Given the description of an element on the screen output the (x, y) to click on. 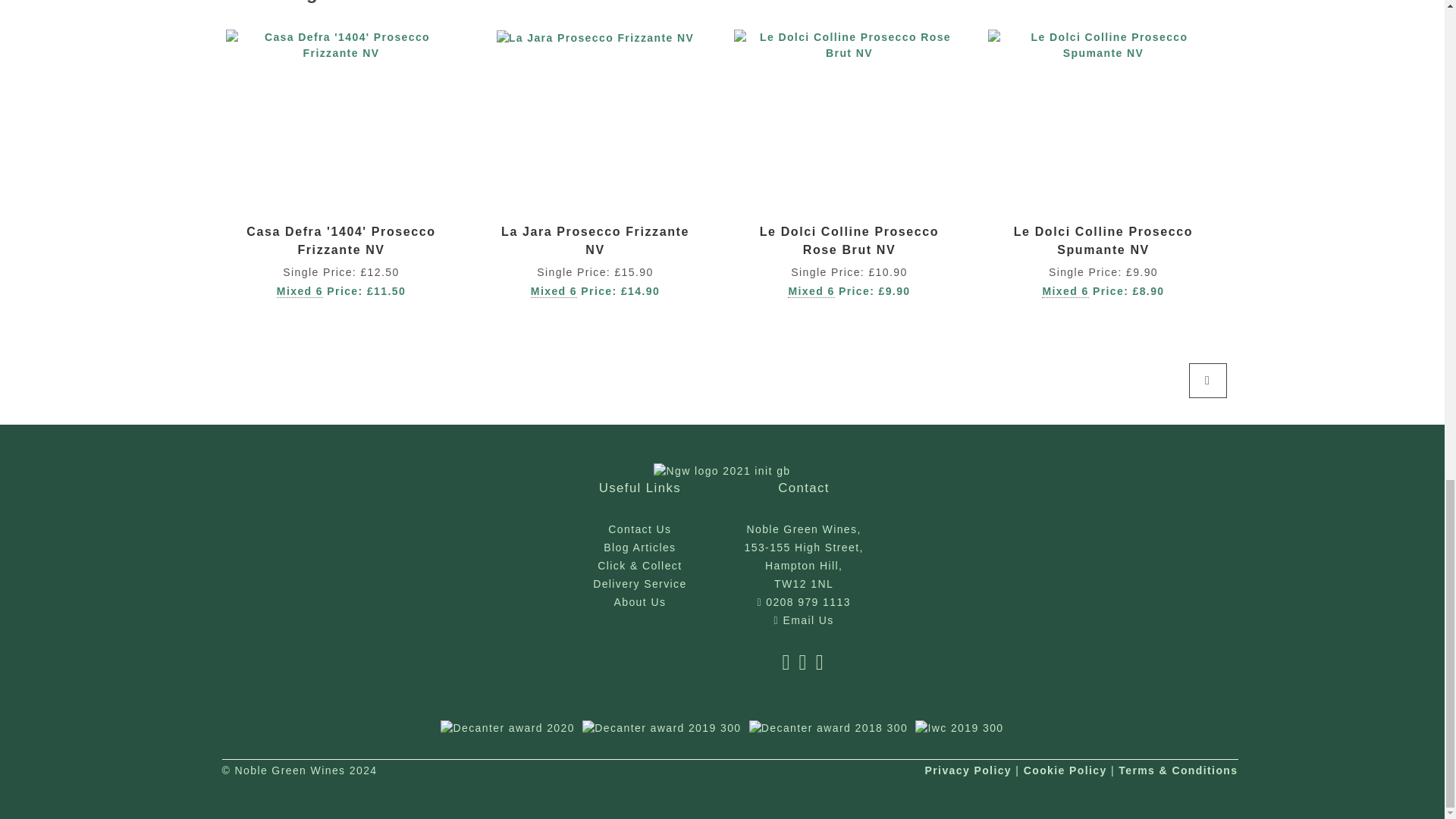
Le Dolci Colline Prosecco Rose Brut NV (849, 240)
Casa Defra '1404' Prosecco Frizzante NV (340, 240)
La Jara Prosecco Frizzante NV (594, 240)
Privacy Policy (967, 770)
Le Dolci Colline Prosecco Spumante NV (1103, 240)
